Given the description of an element on the screen output the (x, y) to click on. 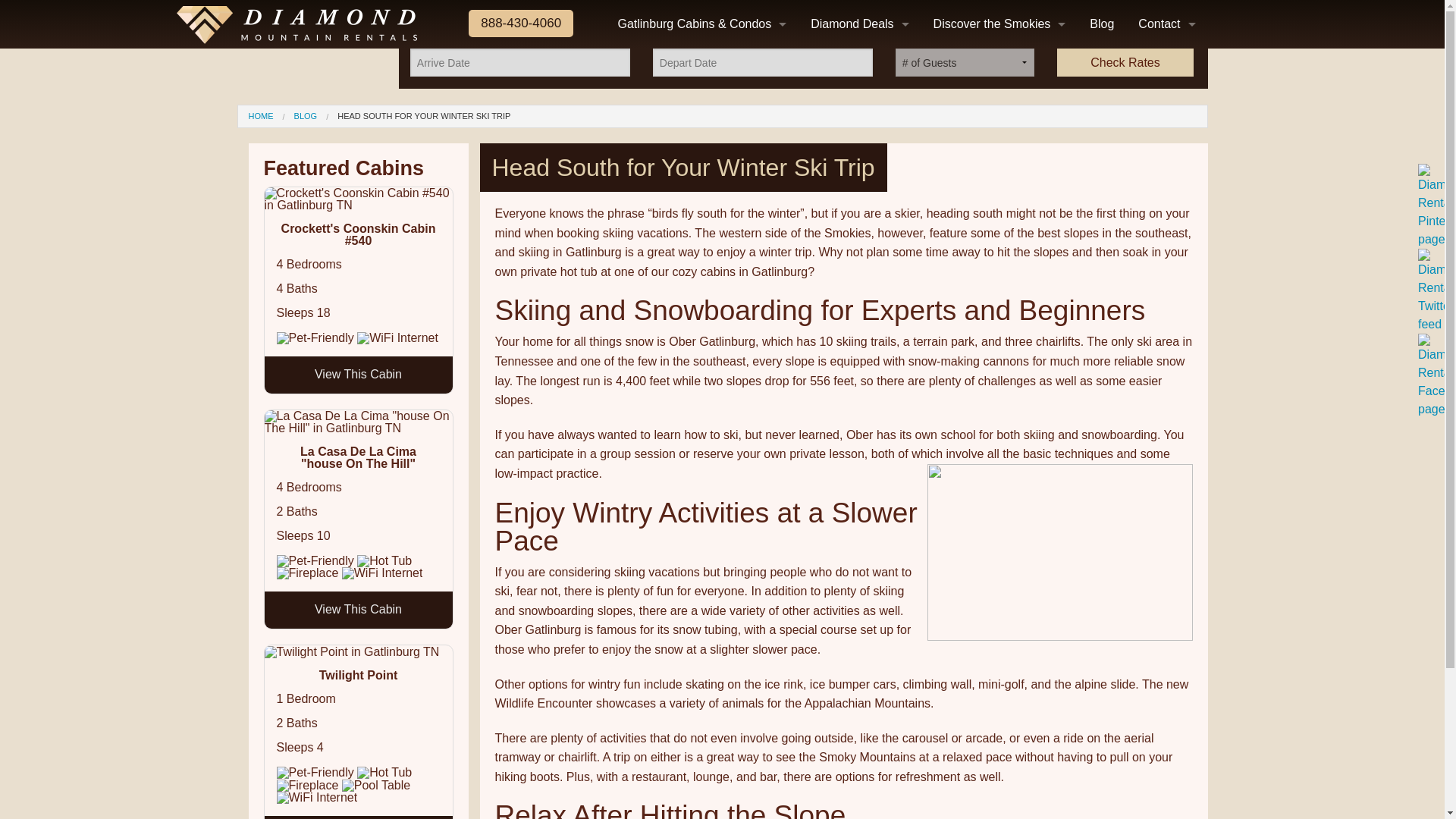
WiFi Internet (397, 337)
Gatlinburg Shopping is Fun (999, 303)
Check Rates (1125, 62)
WiFi Internet (382, 573)
Fireplace (306, 785)
Waterfront Cabins (701, 278)
Free Fun Pass (858, 60)
Cabins with Hot Tubs (701, 351)
Fun Pass Attractions (842, 109)
Cabin Map (701, 133)
Things To Do (999, 133)
Last Minute Deals (858, 84)
Area Events (999, 84)
Two Bedroom Cabins (701, 206)
View All Condos (701, 84)
